Given the description of an element on the screen output the (x, y) to click on. 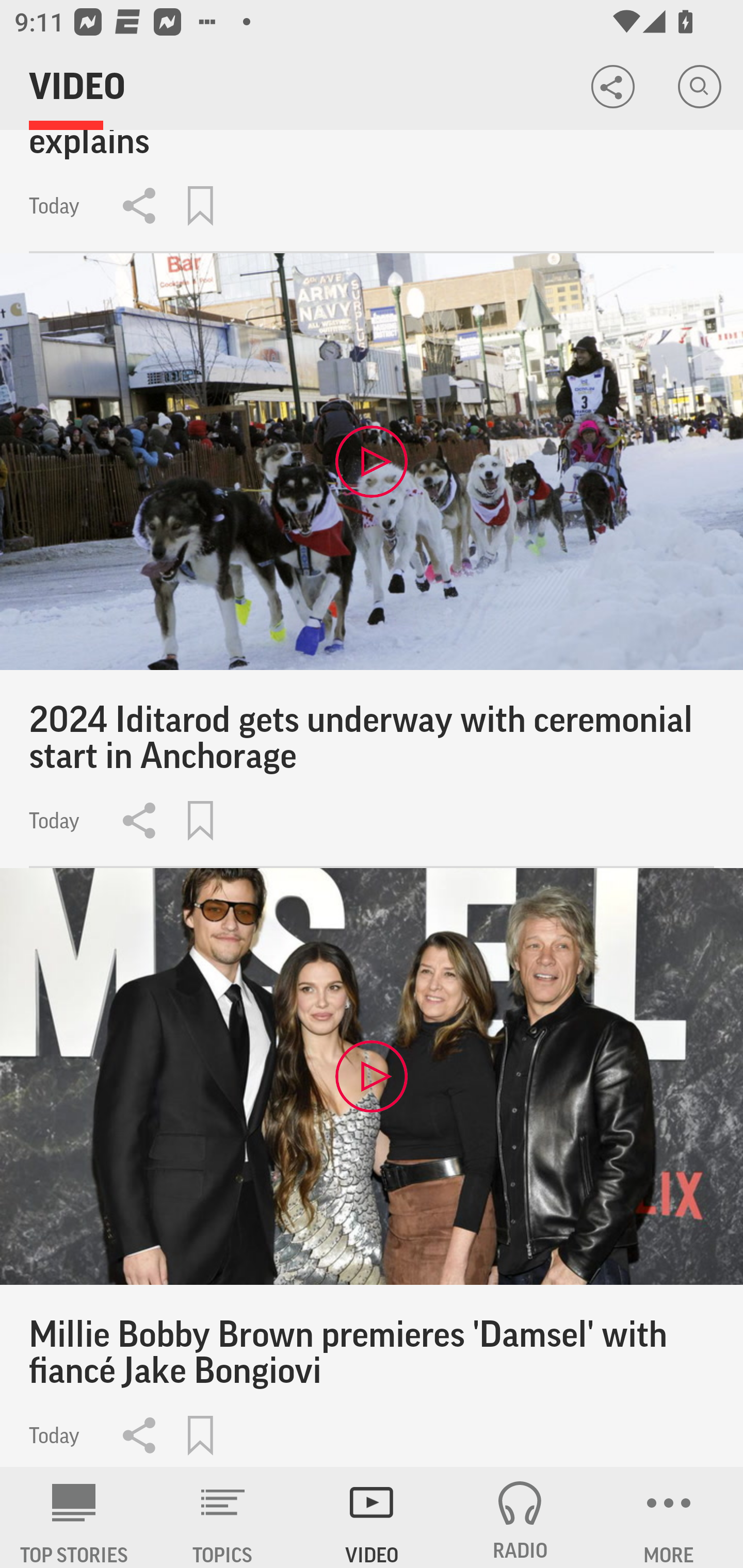
AP News TOP STORIES (74, 1517)
TOPICS (222, 1517)
VIDEO (371, 1517)
RADIO (519, 1517)
MORE (668, 1517)
